Given the description of an element on the screen output the (x, y) to click on. 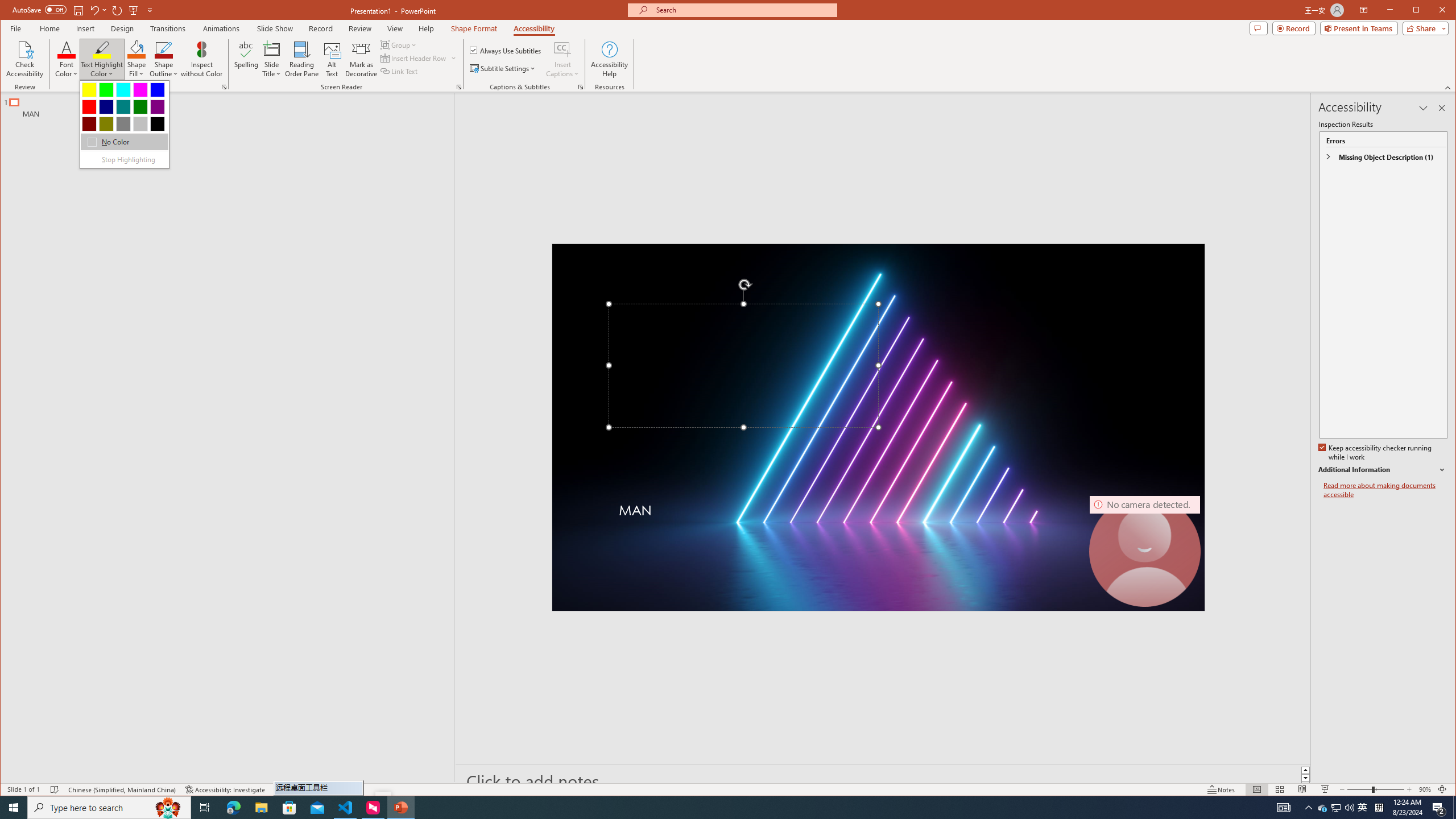
Screen Reader (458, 86)
Camera 7, No camera detected. (1145, 550)
Shape Outline Blue, Accent 1 (163, 48)
